Given the description of an element on the screen output the (x, y) to click on. 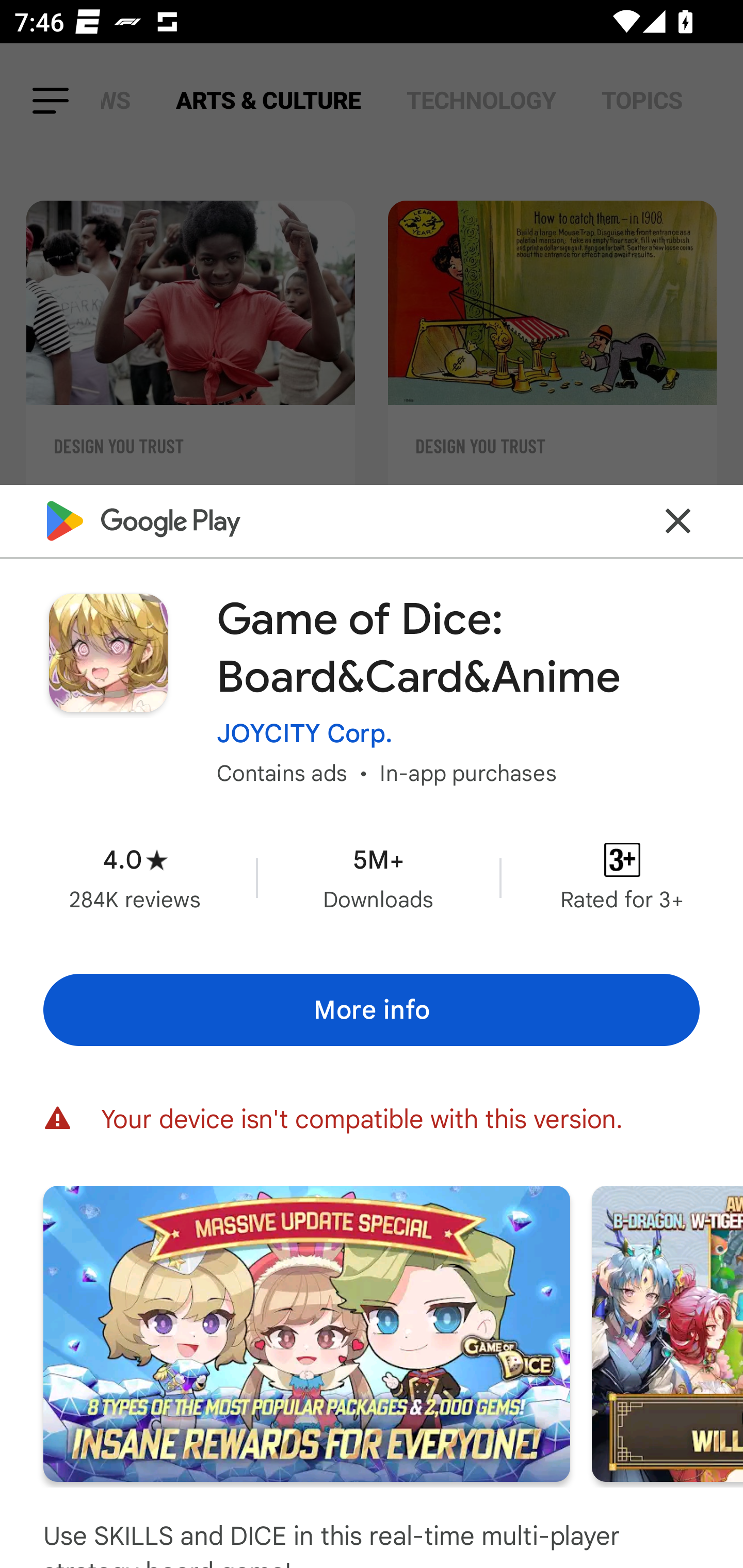
Close (677, 520)
JOYCITY Corp. (304, 732)
More info (371, 1009)
Screenshot "1" of "7" (306, 1333)
